Given the description of an element on the screen output the (x, y) to click on. 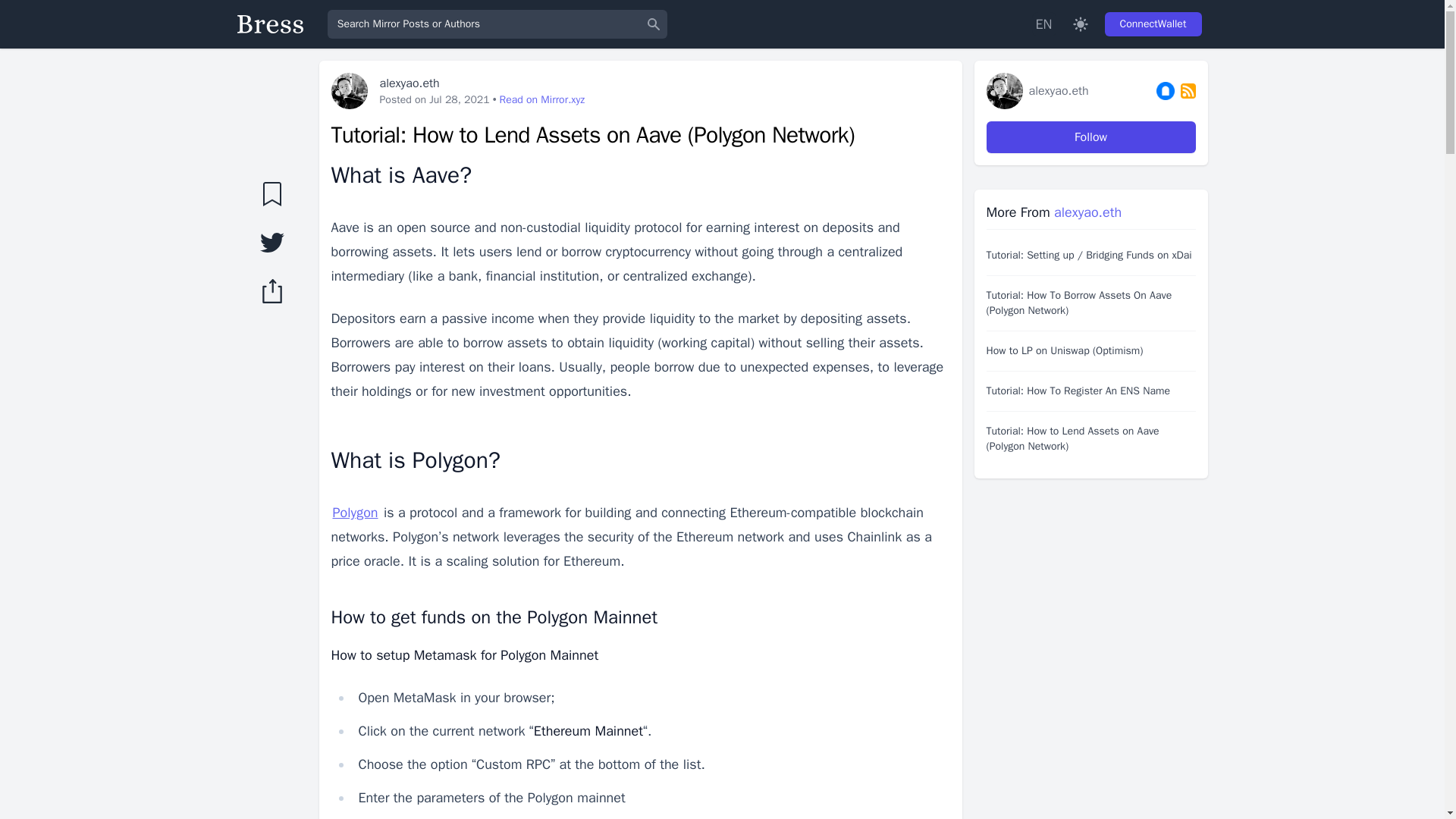
Tutorial: How To Register An ENS Name (1090, 391)
Read on Mirror.xyz (542, 99)
EN (1042, 24)
Follow (1090, 137)
ConnectWallet (1152, 24)
alexyao.eth (1087, 211)
Polygon (354, 512)
